Given the description of an element on the screen output the (x, y) to click on. 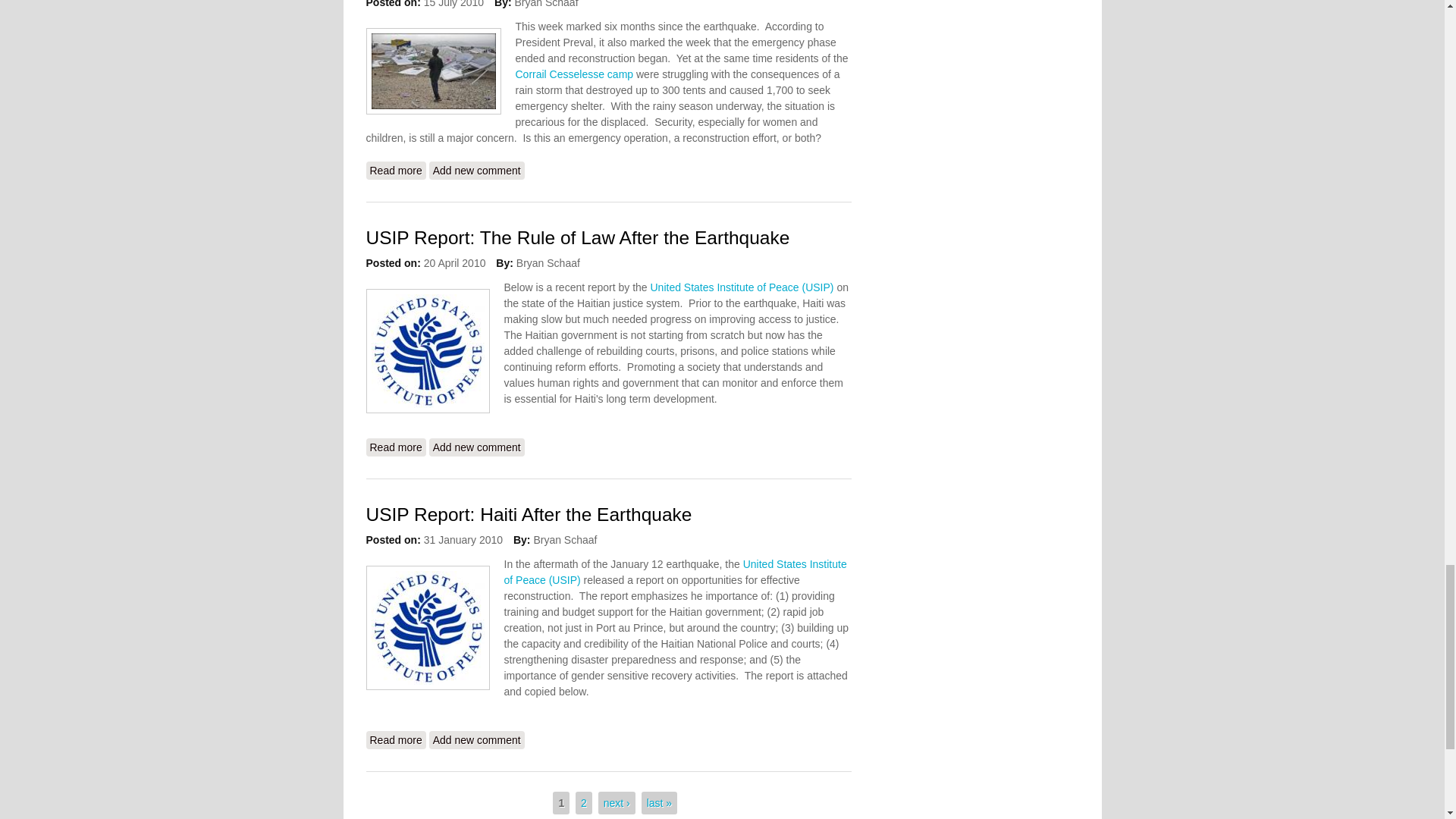
Add a new comment to this page. (476, 170)
USIP Report:  The Rule of Law After the Earthquake (395, 447)
Are We Reconstructing Yet?  (395, 170)
